Given the description of an element on the screen output the (x, y) to click on. 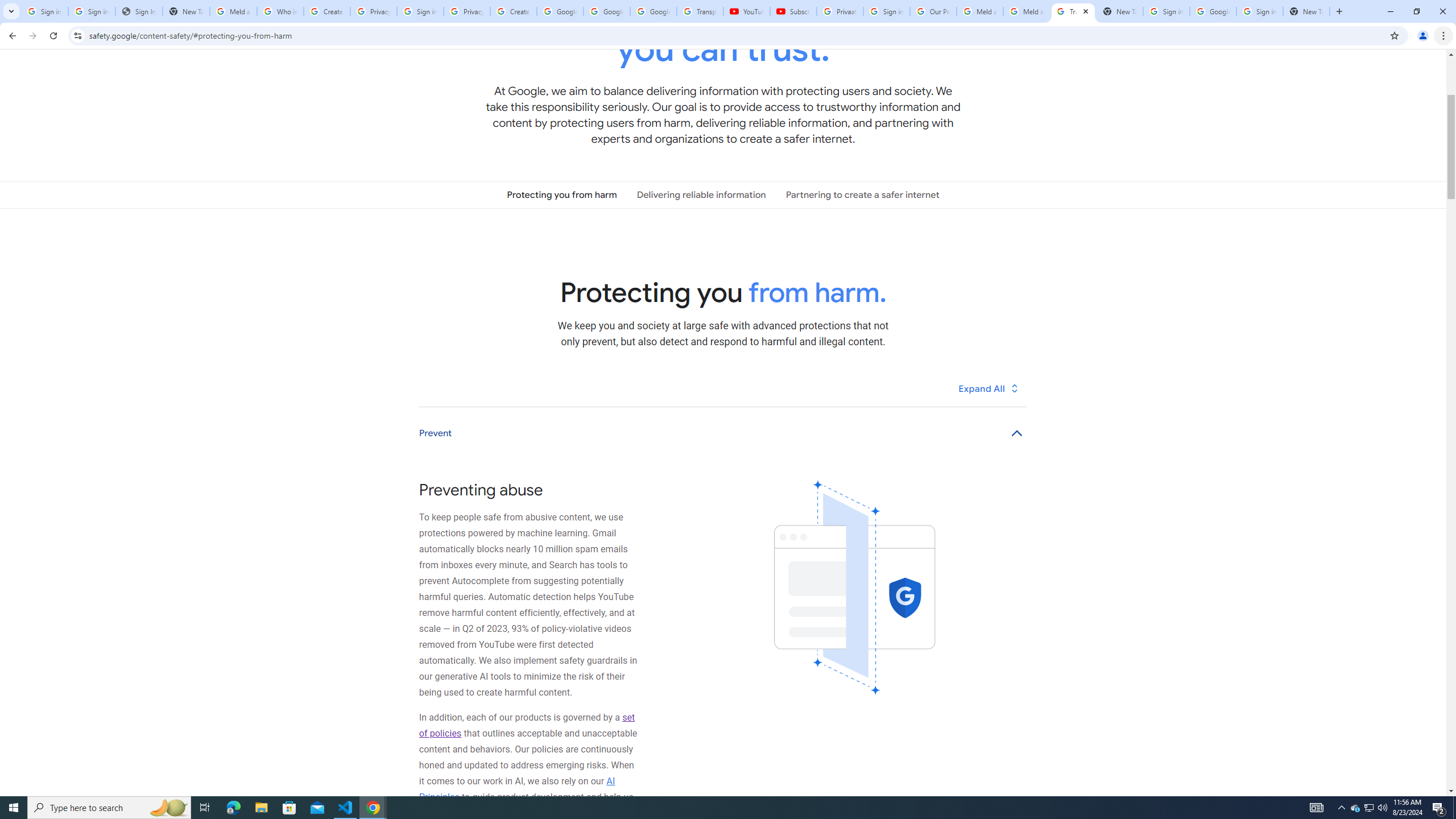
Create your Google Account (512, 11)
Prevent (723, 433)
Create your Google Account (326, 11)
Protecting you from harm (561, 194)
set of policies (526, 724)
AI Principles (517, 788)
Sign in - Google Accounts (886, 11)
Sign in - Google Accounts (44, 11)
Sign In - USA TODAY (138, 11)
Sign in - Google Accounts (91, 11)
